Given the description of an element on the screen output the (x, y) to click on. 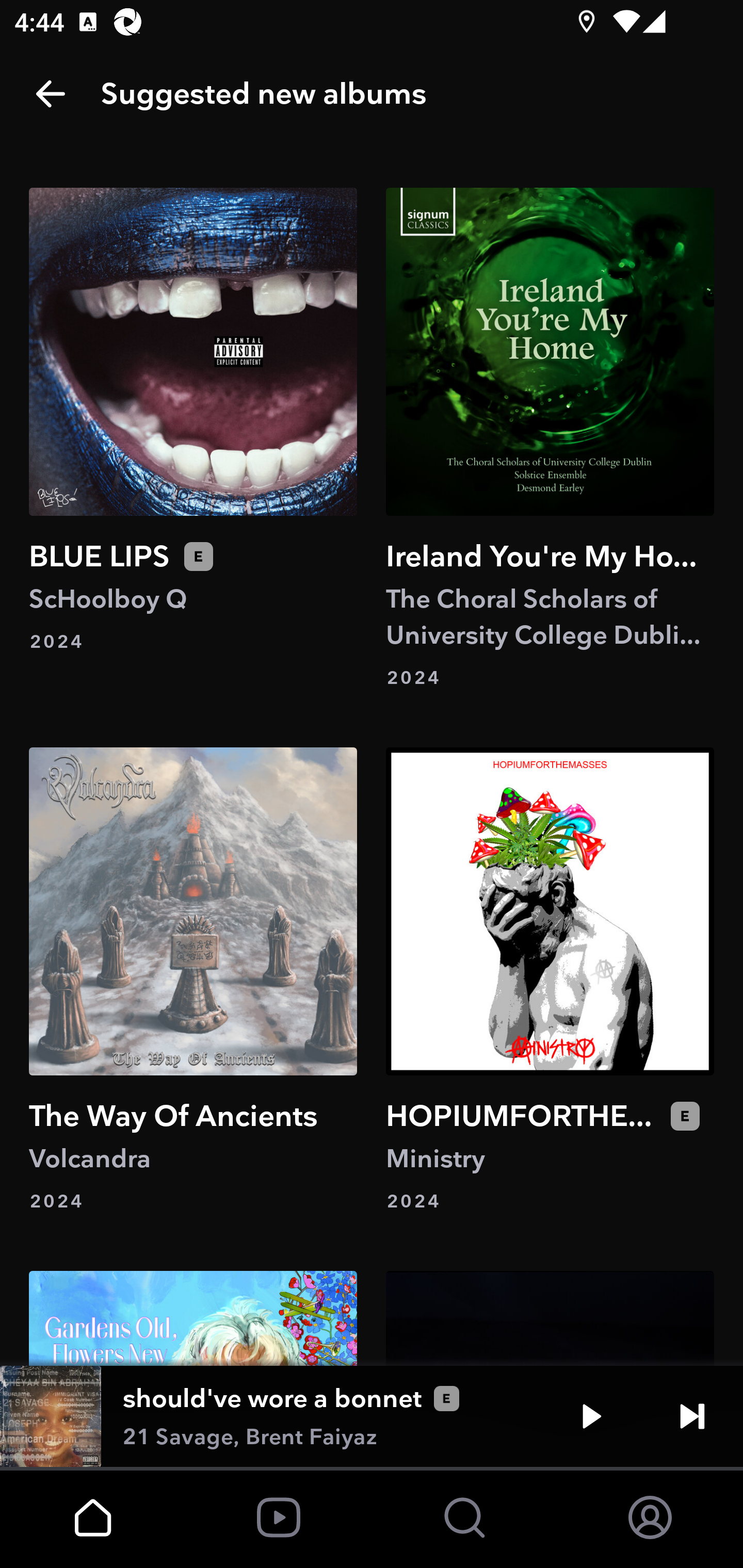
BLUE LIPS ScHoolboy Q 2024 (192, 438)
The Way Of Ancients Volcandra 2024 (192, 980)
HOPIUMFORTHEMASSES Ministry 2024 (549, 980)
Play (590, 1416)
